Given the description of an element on the screen output the (x, y) to click on. 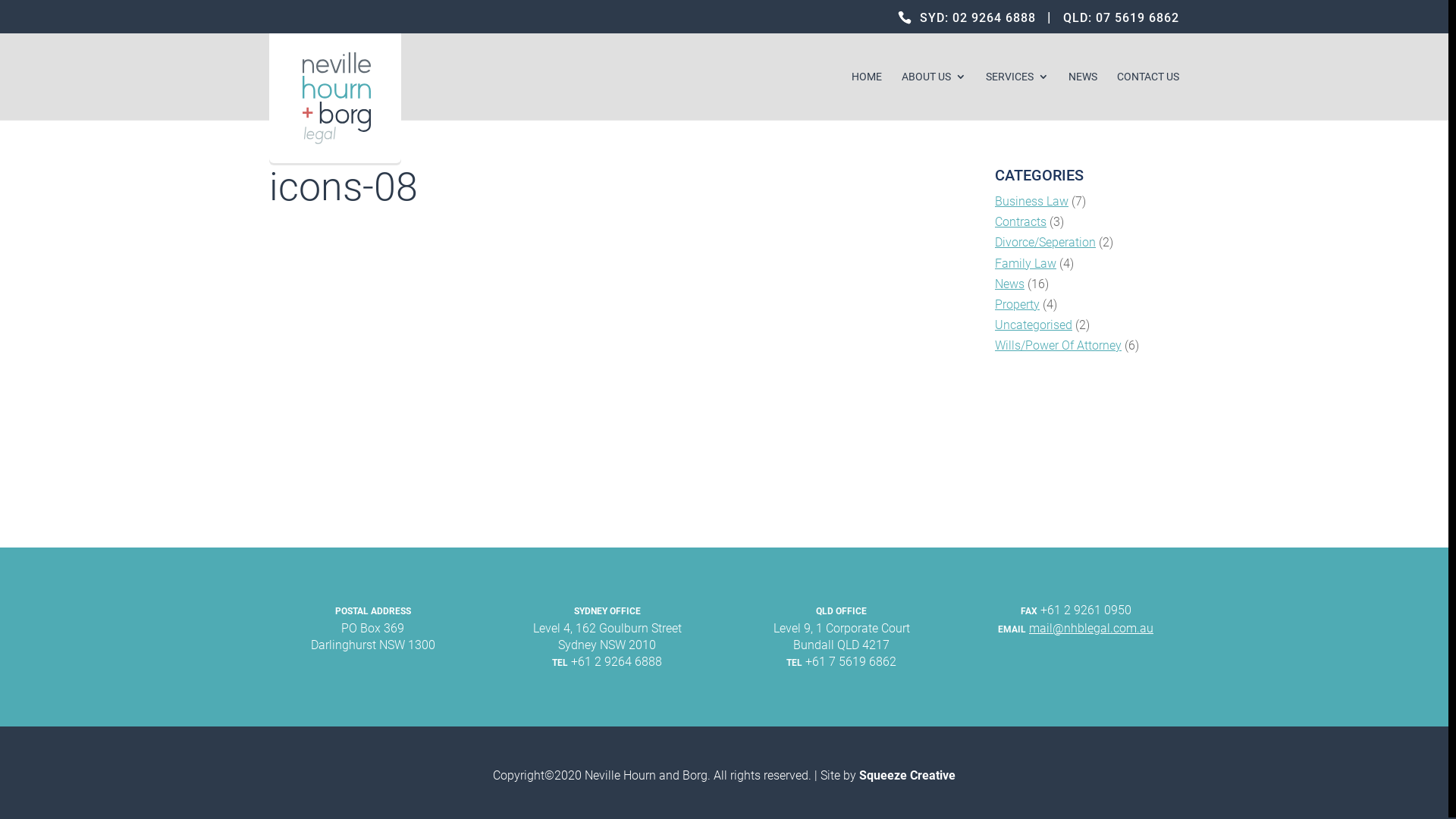
Wills/Power Of Attorney Element type: text (1057, 345)
HOME Element type: text (866, 95)
Property Element type: text (1016, 304)
Business Law Element type: text (1031, 201)
Uncategorised Element type: text (1033, 324)
News Element type: text (1009, 283)
Squeeze Creative Element type: text (907, 775)
Family Law Element type: text (1025, 263)
ABOUT US Element type: text (933, 95)
QLD: 07 5619 6862 Element type: text (1121, 17)
CONTACT US Element type: text (1148, 95)
SYD: 02 9264 6888 Element type: text (977, 17)
NEWS Element type: text (1082, 95)
Contracts Element type: text (1020, 221)
SERVICES Element type: text (1016, 95)
Divorce/Seperation Element type: text (1044, 242)
mail@nhblegal.com.au Element type: text (1091, 628)
